Given the description of an element on the screen output the (x, y) to click on. 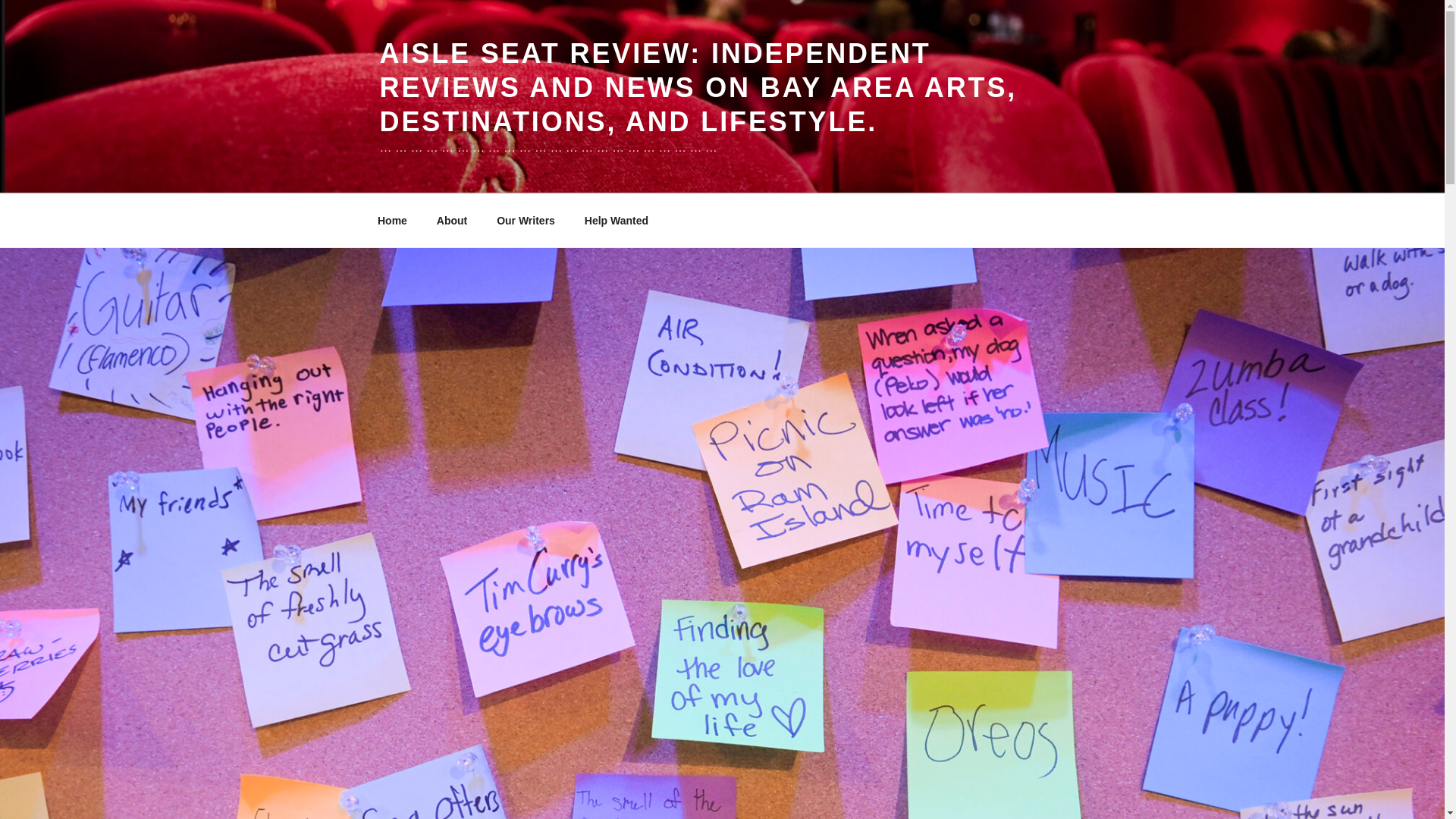
Help Wanted (615, 220)
Our Writers (526, 220)
About (451, 220)
Home (392, 220)
